Given the description of an element on the screen output the (x, y) to click on. 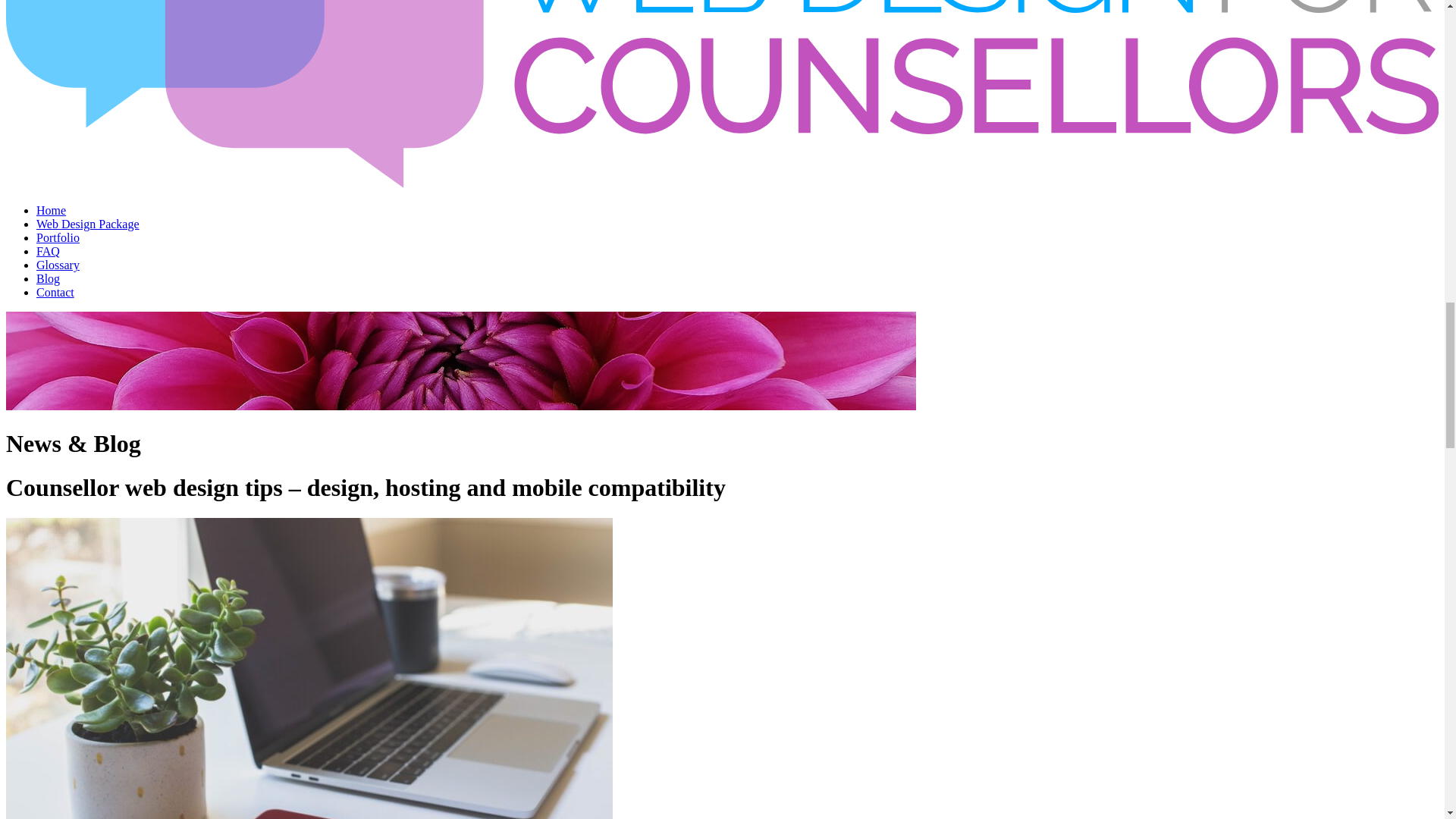
FAQ (47, 250)
Web Design Package (87, 223)
Portfolio (58, 237)
Contact (55, 291)
Home (50, 210)
Blog (47, 278)
Glossary (58, 264)
